Given the description of an element on the screen output the (x, y) to click on. 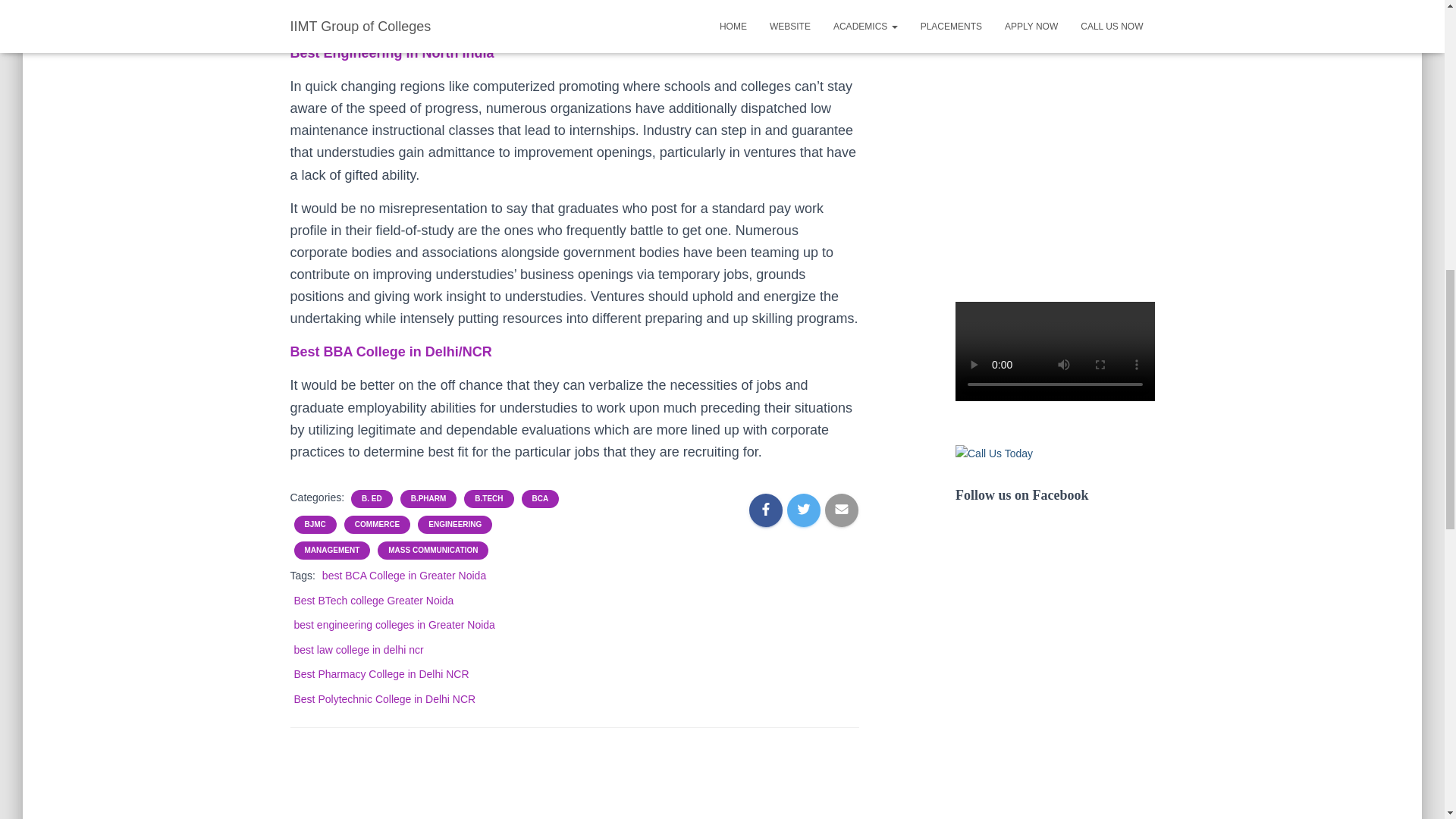
best engineering colleges in Greater Noida (394, 624)
MANAGEMENT (331, 550)
B.TECH (488, 498)
BCA (540, 498)
best law college in delhi ncr (358, 649)
MASS COMMUNICATION (433, 550)
Best Engineering in North India (391, 52)
Best BTech college Greater Noida (374, 600)
COMMERCE (377, 524)
B.PHARM (428, 498)
Best Pharmacy College in Delhi NCR (381, 674)
BJMC (314, 524)
ENGINEERING (454, 524)
best BCA College in Greater Noida (403, 575)
B. ED (371, 498)
